Given the description of an element on the screen output the (x, y) to click on. 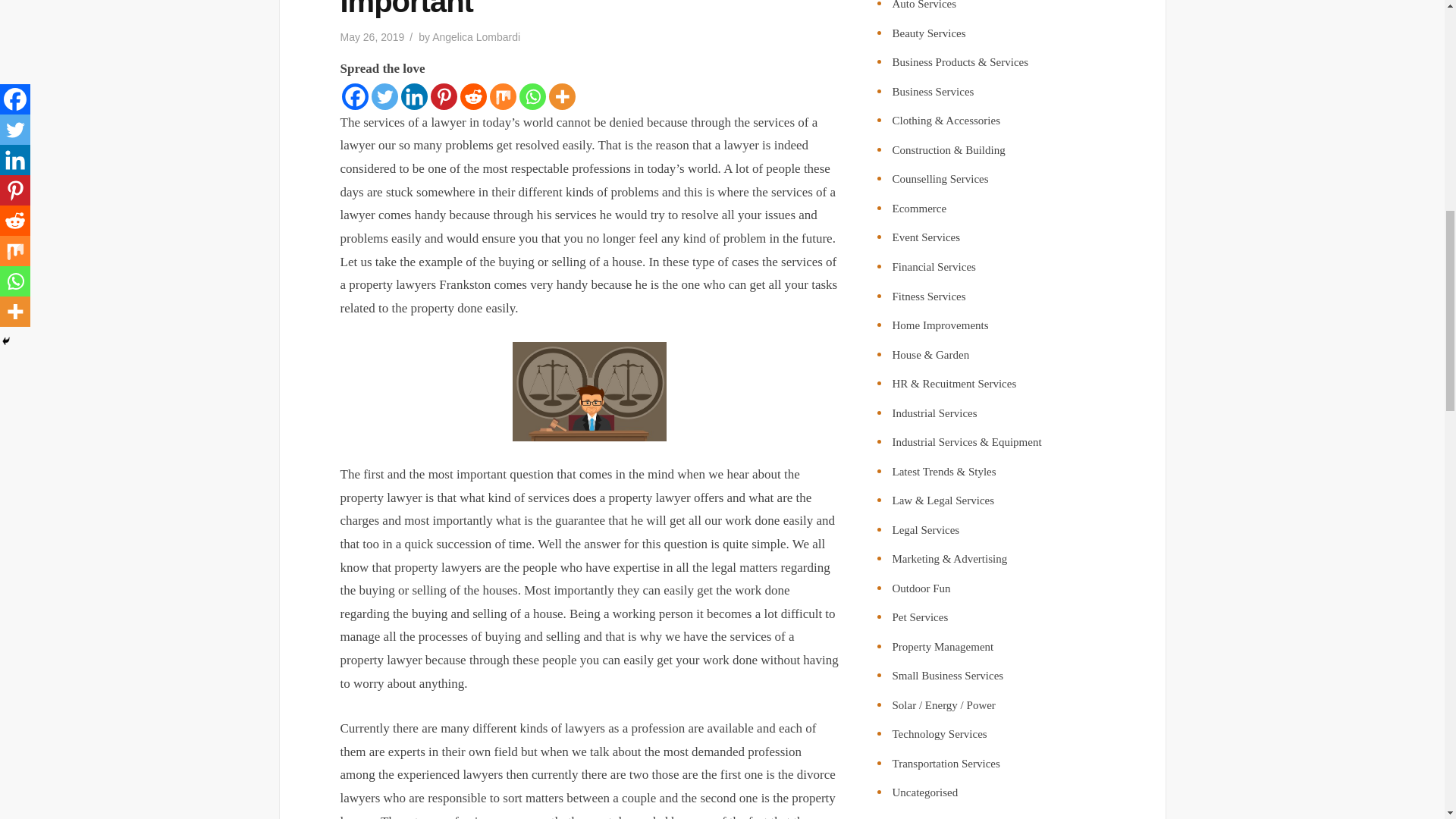
May 26, 2019 (371, 37)
Pinterest (443, 96)
Linkedin (413, 96)
Beauty Services (928, 33)
Reddit (473, 96)
Business Services (932, 91)
Facebook (354, 96)
lawyers-service.jpg (589, 391)
Auto Services (923, 4)
Whatsapp (531, 96)
Twitter (384, 96)
More (561, 96)
Angelica Lombardi (475, 37)
Mix (502, 96)
